Given the description of an element on the screen output the (x, y) to click on. 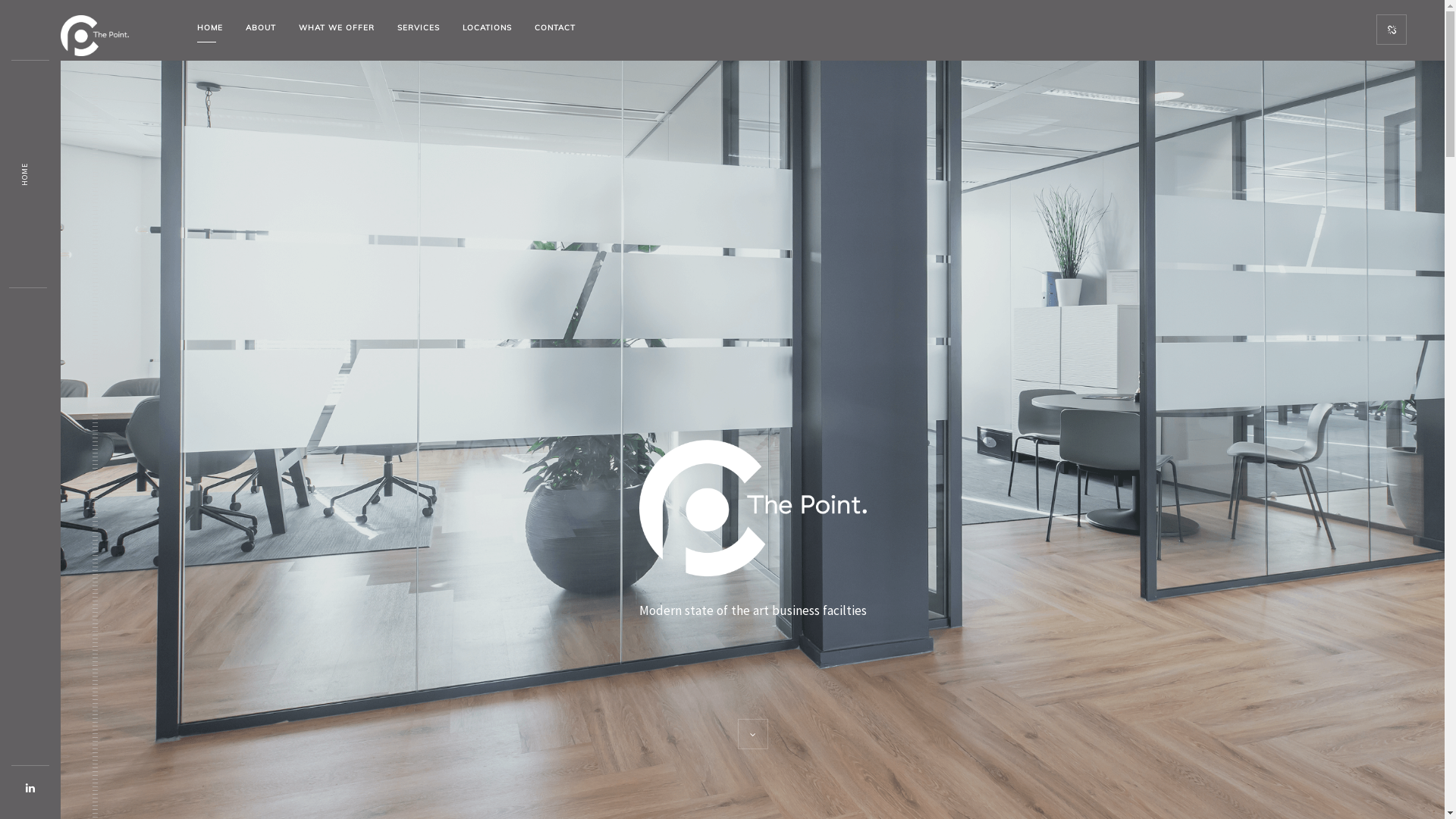
ABOUT Element type: text (260, 27)
SERVICES Element type: text (418, 27)
INFO@THEPOINT.BUSINESS Element type: text (963, 677)
+31(0)207085770 Element type: text (784, 677)
WHAT WE OFFER Element type: text (336, 27)
HOME Element type: text (30, 167)
READ OUR PRIVACY POLICY HERE Element type: text (1008, 725)
HOME Element type: text (209, 27)
CONTACT Element type: text (554, 27)
LOCATIONS Element type: text (487, 27)
LINKEDIN Element type: text (1093, 677)
